Given the description of an element on the screen output the (x, y) to click on. 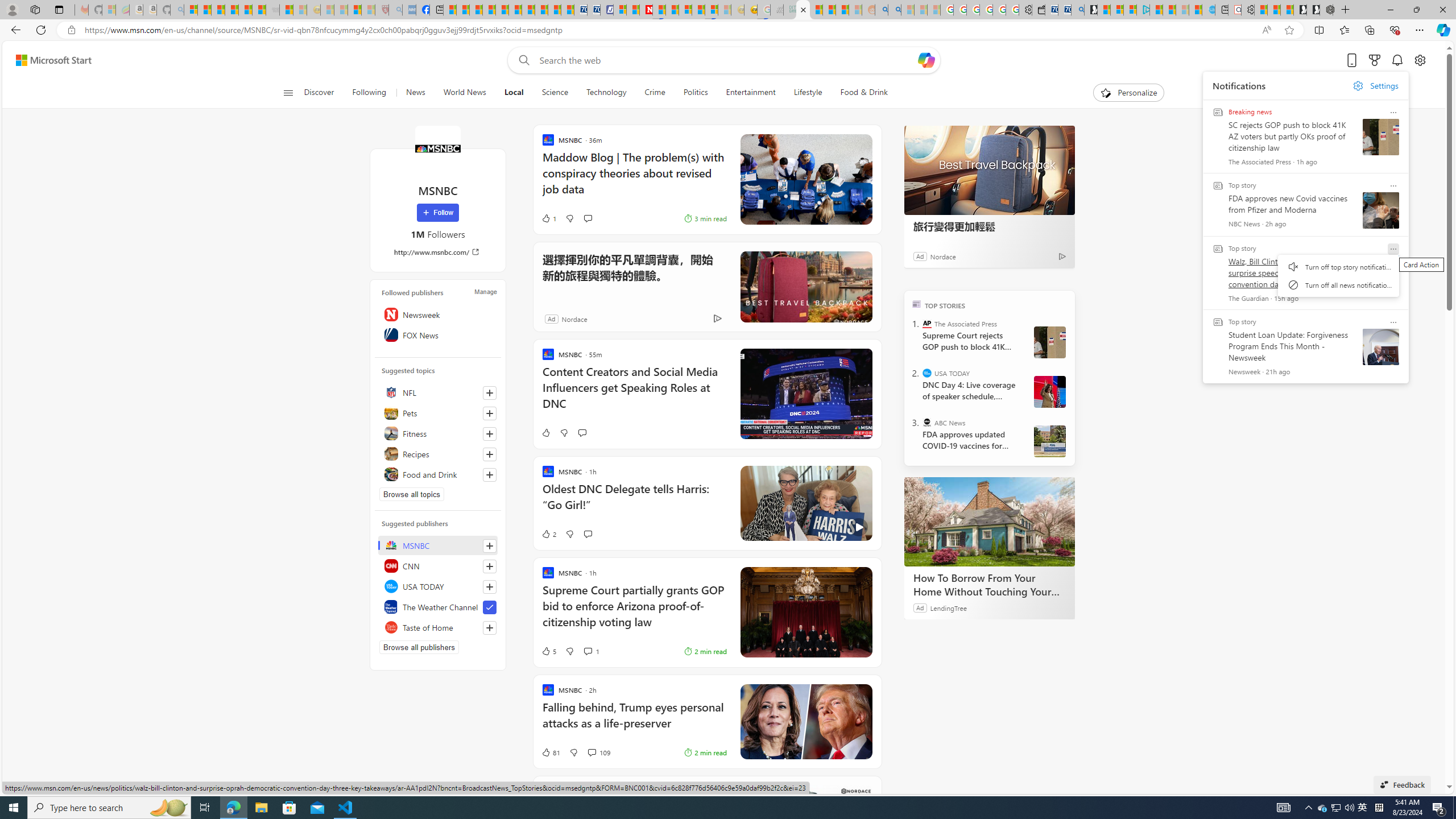
Cheap Hotels - Save70.com (593, 9)
Like (544, 432)
